Given the description of an element on the screen output the (x, y) to click on. 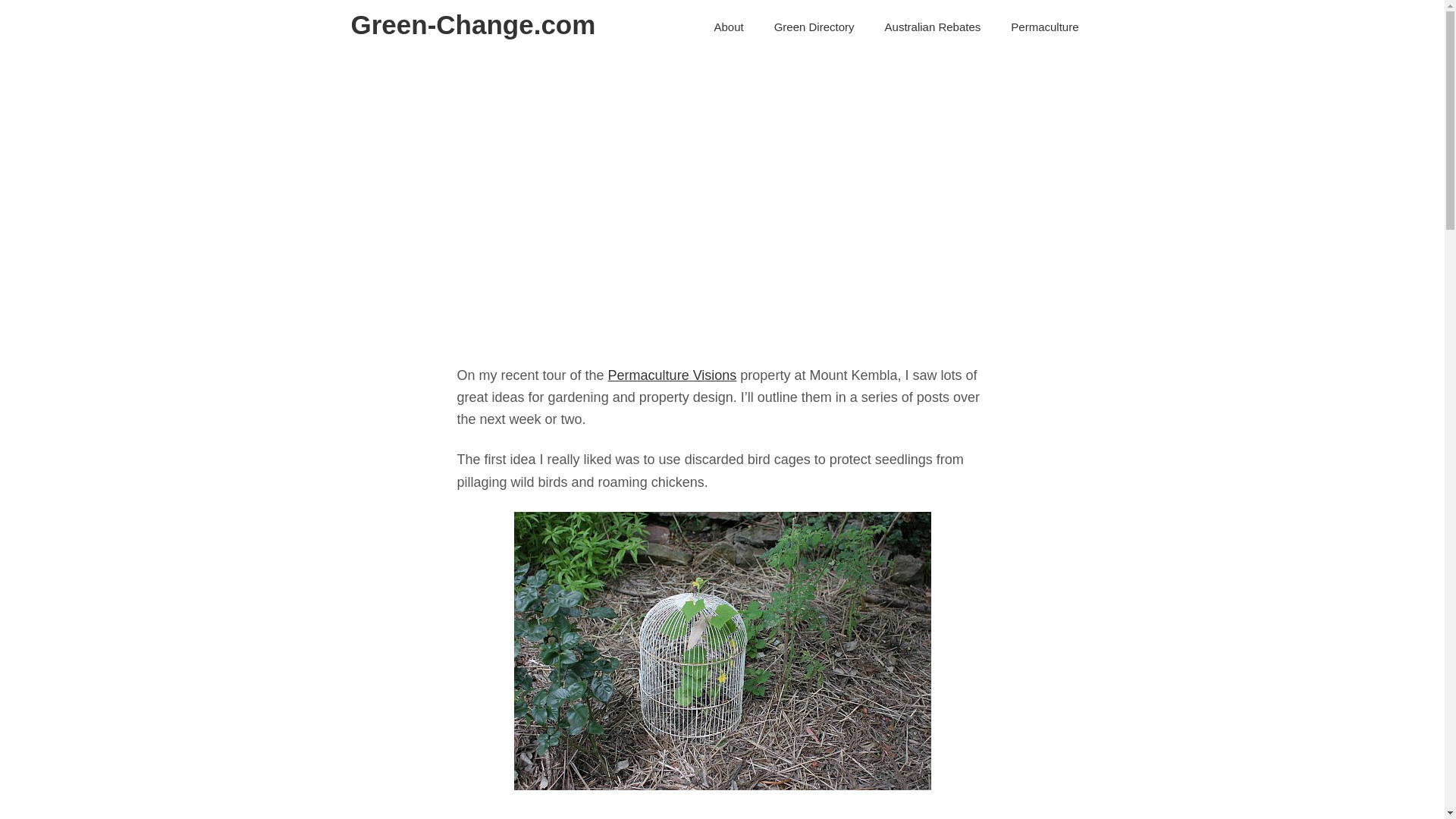
Permaculture Visions (672, 374)
Green Directory (814, 27)
Darren (785, 246)
Green-Change.com (472, 24)
Australian Rebates (933, 27)
Birdcage seedling protection (722, 650)
About (727, 27)
Sunday, December 26, 2010, 12:19 pm (694, 246)
Green-Change.com (472, 24)
Permaculture (1044, 27)
